Given the description of an element on the screen output the (x, y) to click on. 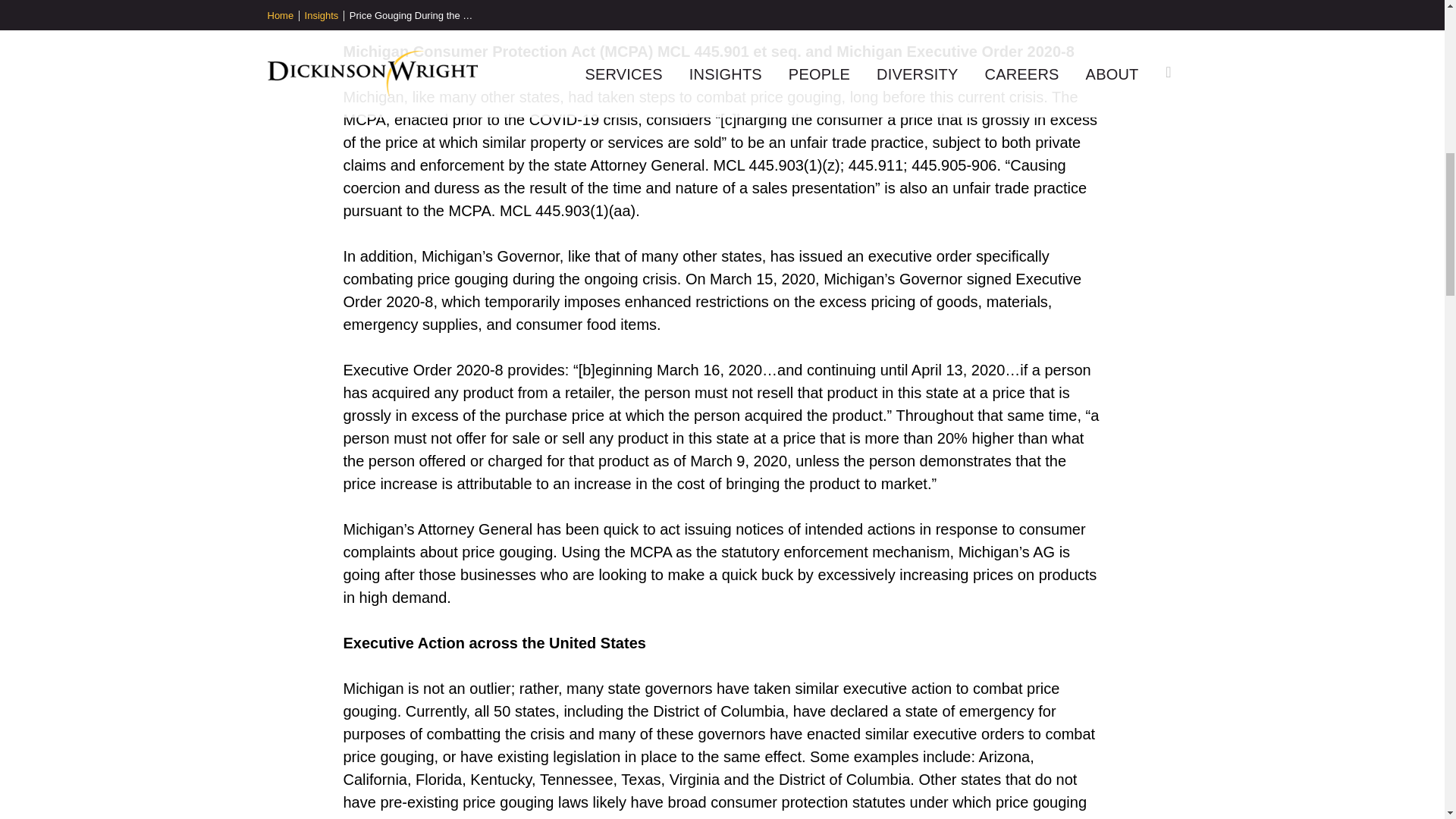
Arizona (1003, 756)
